Given the description of an element on the screen output the (x, y) to click on. 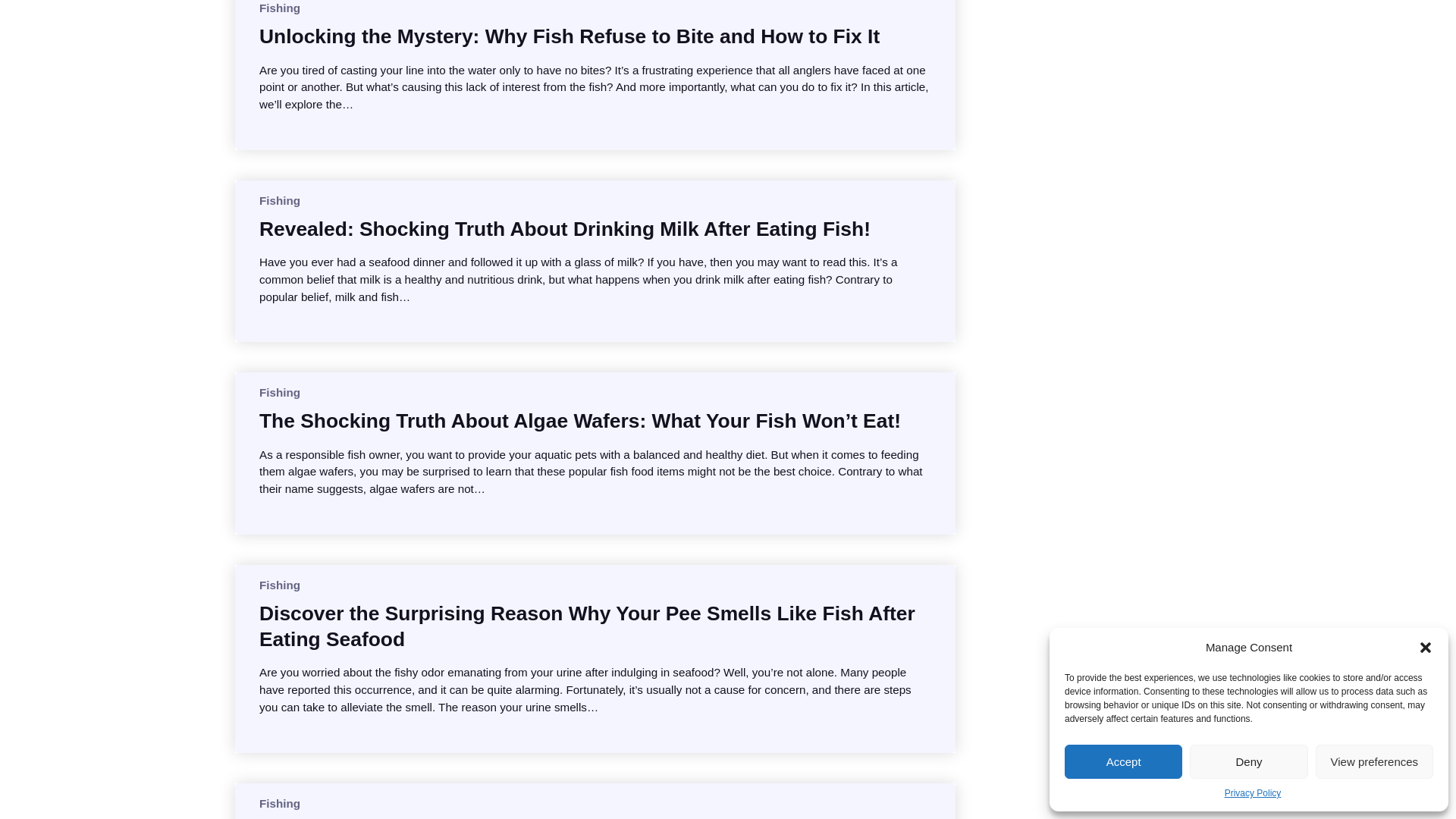
Fishing (279, 584)
Fishing (279, 200)
Fishing (279, 391)
Fishing (279, 802)
Fishing (279, 7)
